Given the description of an element on the screen output the (x, y) to click on. 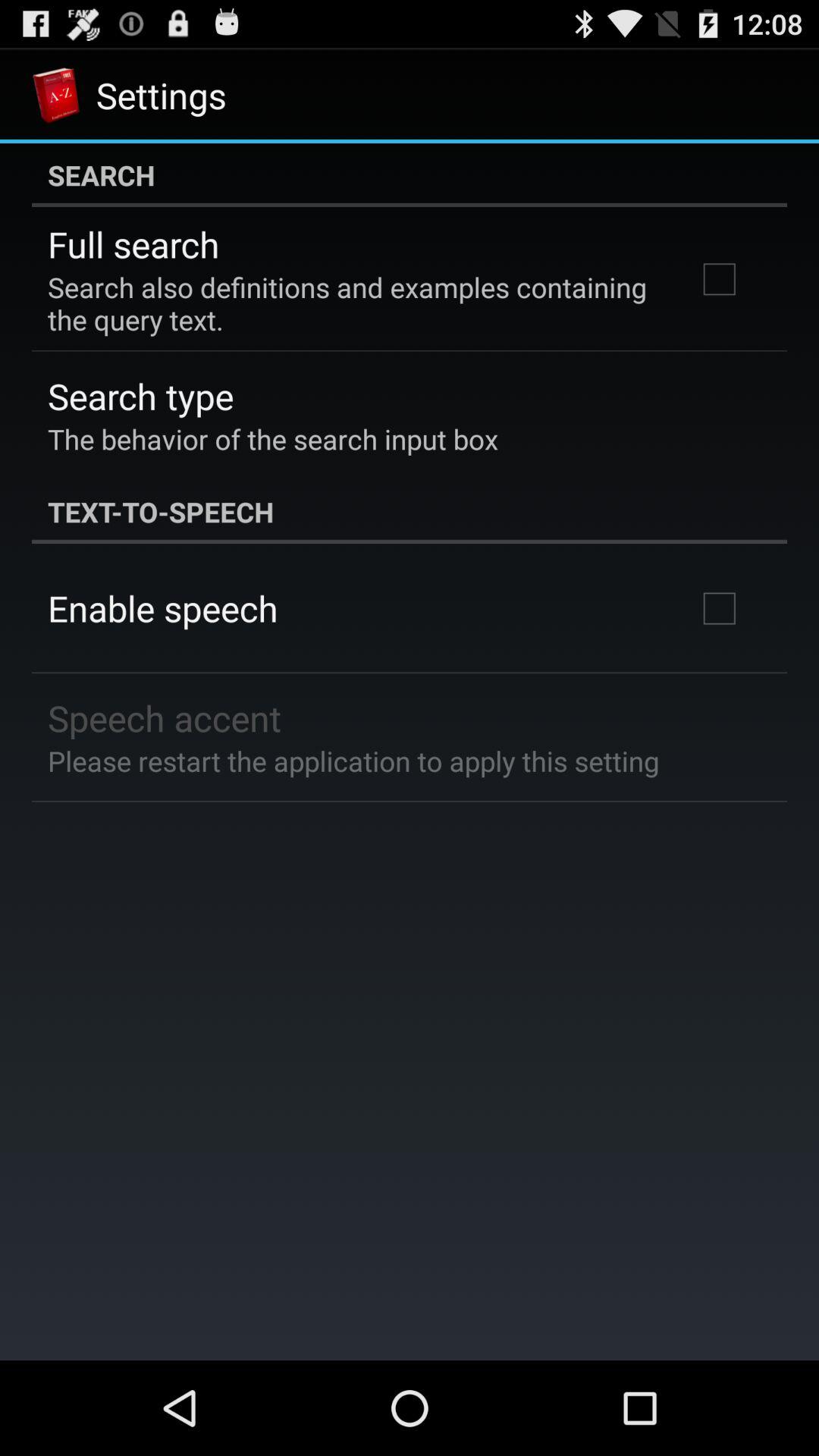
launch the search also definitions item (351, 303)
